Given the description of an element on the screen output the (x, y) to click on. 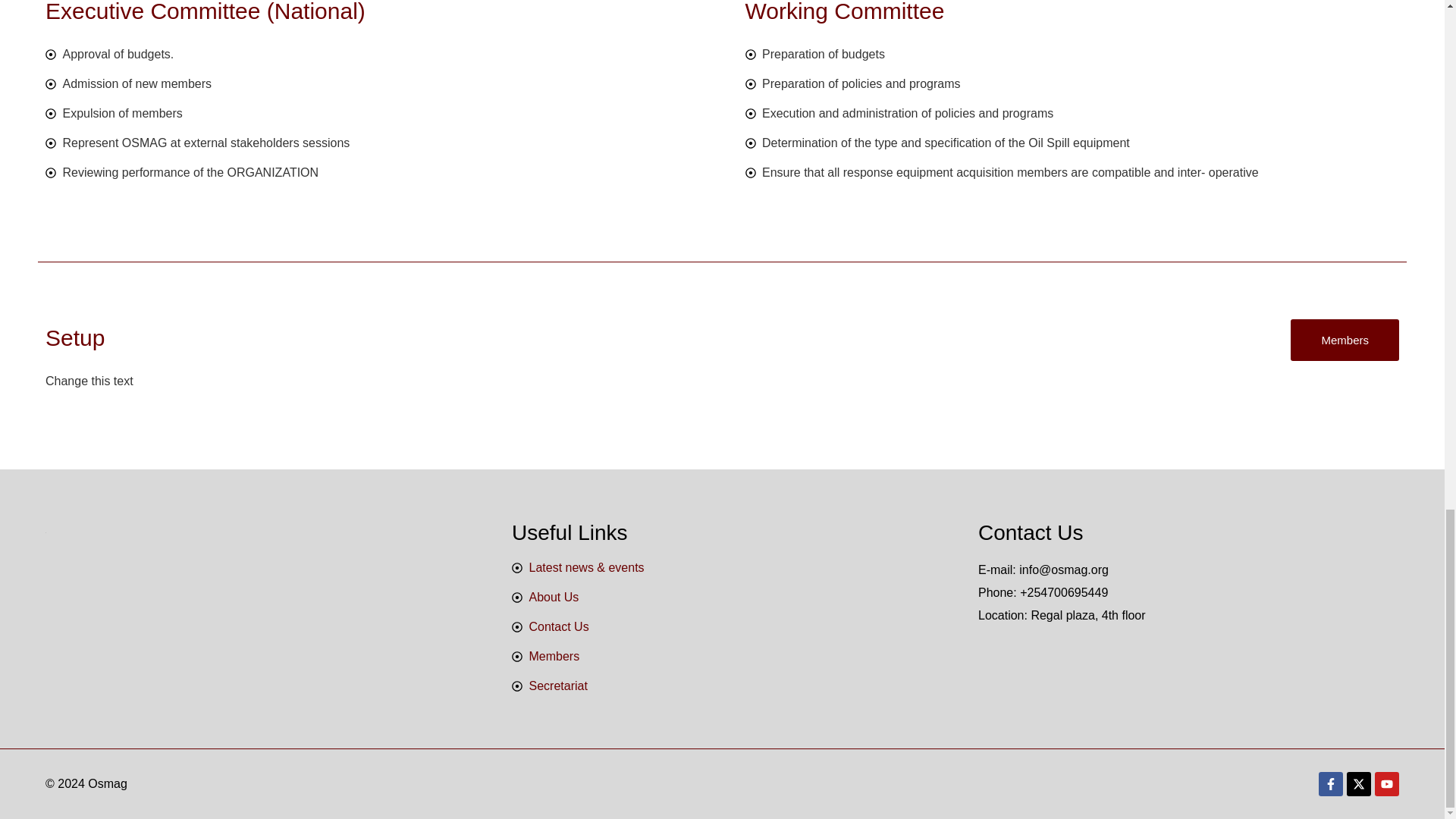
About Us (722, 597)
Secretariat (722, 686)
Members (1344, 340)
Contact Us (722, 627)
Members (722, 656)
